Given the description of an element on the screen output the (x, y) to click on. 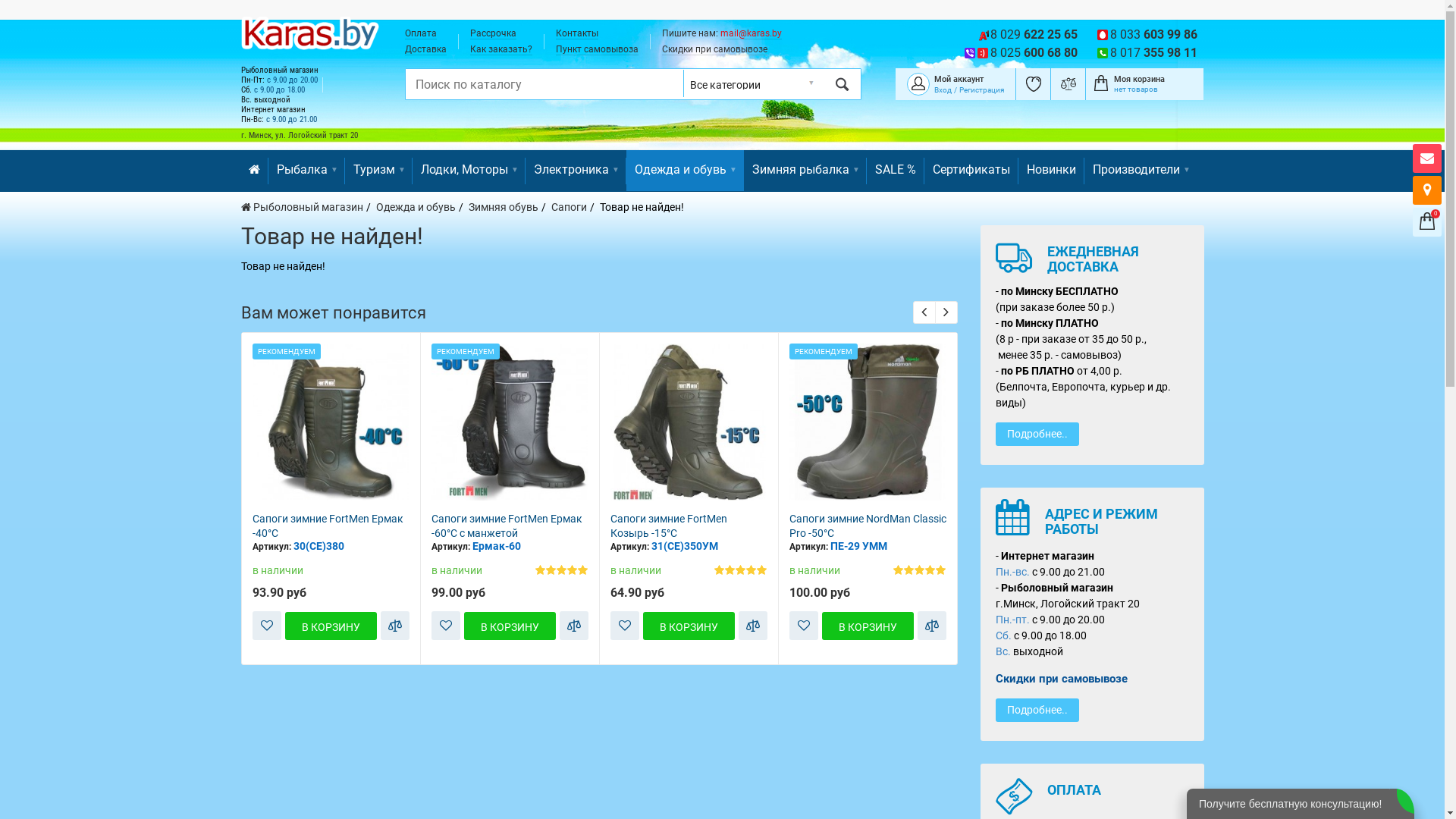
0 Element type: text (1426, 221)
8 029 622 25 65 Element type: text (1033, 34)
8 017 355 98 11 Element type: text (1153, 52)
SALE % Element type: text (895, 170)
8 025 600 68 80 Element type: text (1033, 52)
8 033 603 99 86 Element type: text (1153, 34)
mail@karas.by Element type: text (750, 33)
